Given the description of an element on the screen output the (x, y) to click on. 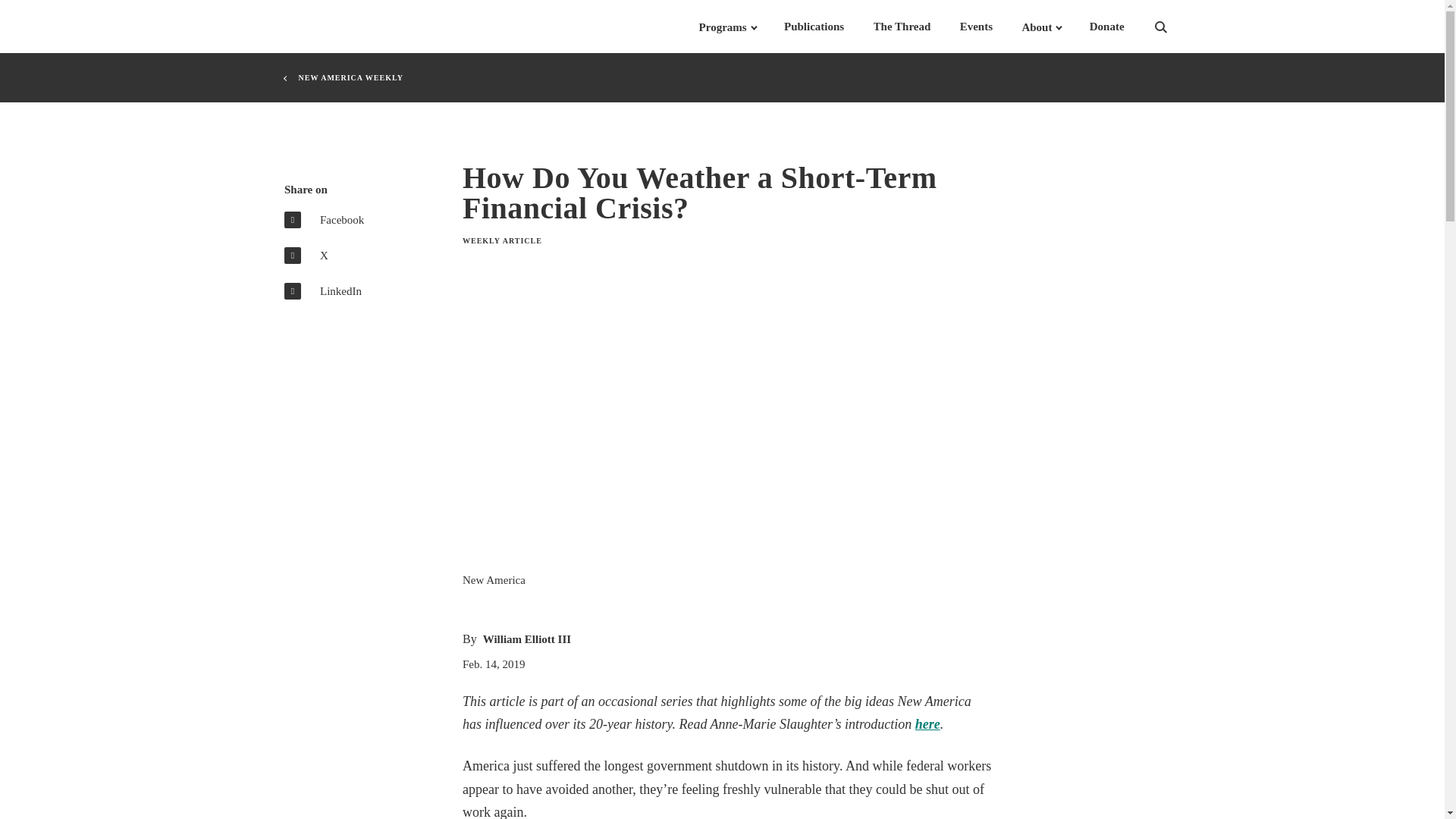
Publications (814, 26)
Search (1180, 27)
New America (357, 26)
NEW AMERICA WEEKLY (350, 77)
Programs (722, 26)
Search (1180, 27)
Search (1180, 27)
The Thread (902, 26)
